Given the description of an element on the screen output the (x, y) to click on. 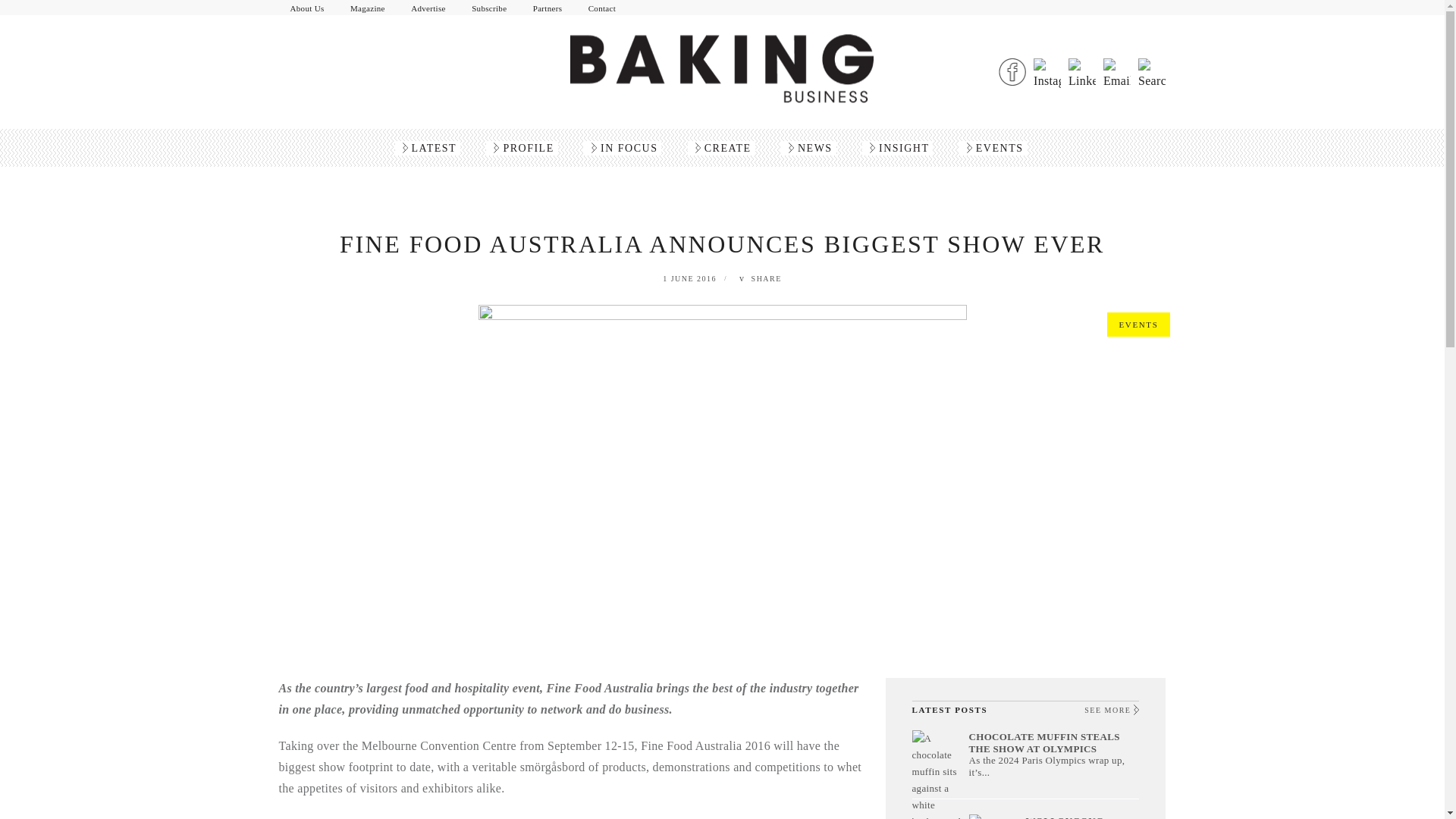
Contact (602, 8)
Facebook (1012, 71)
Linkedin (1082, 71)
About Us (307, 8)
Partners (547, 8)
Instagram (1047, 71)
Email (1117, 71)
Magazine (367, 8)
Advertise (428, 8)
Subscribe (489, 8)
